Given the description of an element on the screen output the (x, y) to click on. 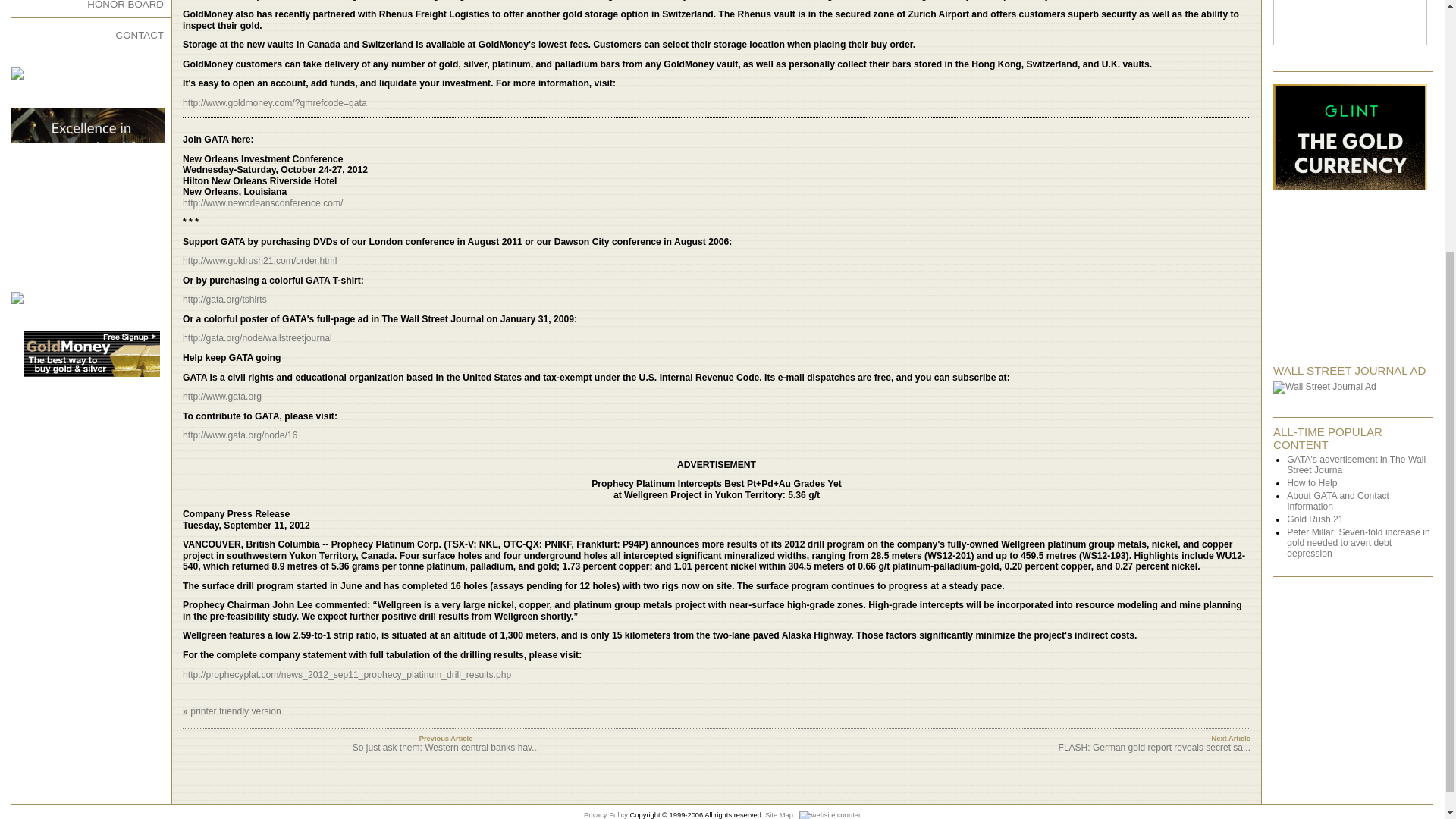
FLASH: German gold report reveals secret sa... (1154, 747)
printer friendly version (235, 710)
CONTACT (139, 34)
HONOR BOARD (125, 4)
Display a printer-friendly version of this page. (235, 710)
So just ask them: Western central banks hav... (445, 747)
